Given the description of an element on the screen output the (x, y) to click on. 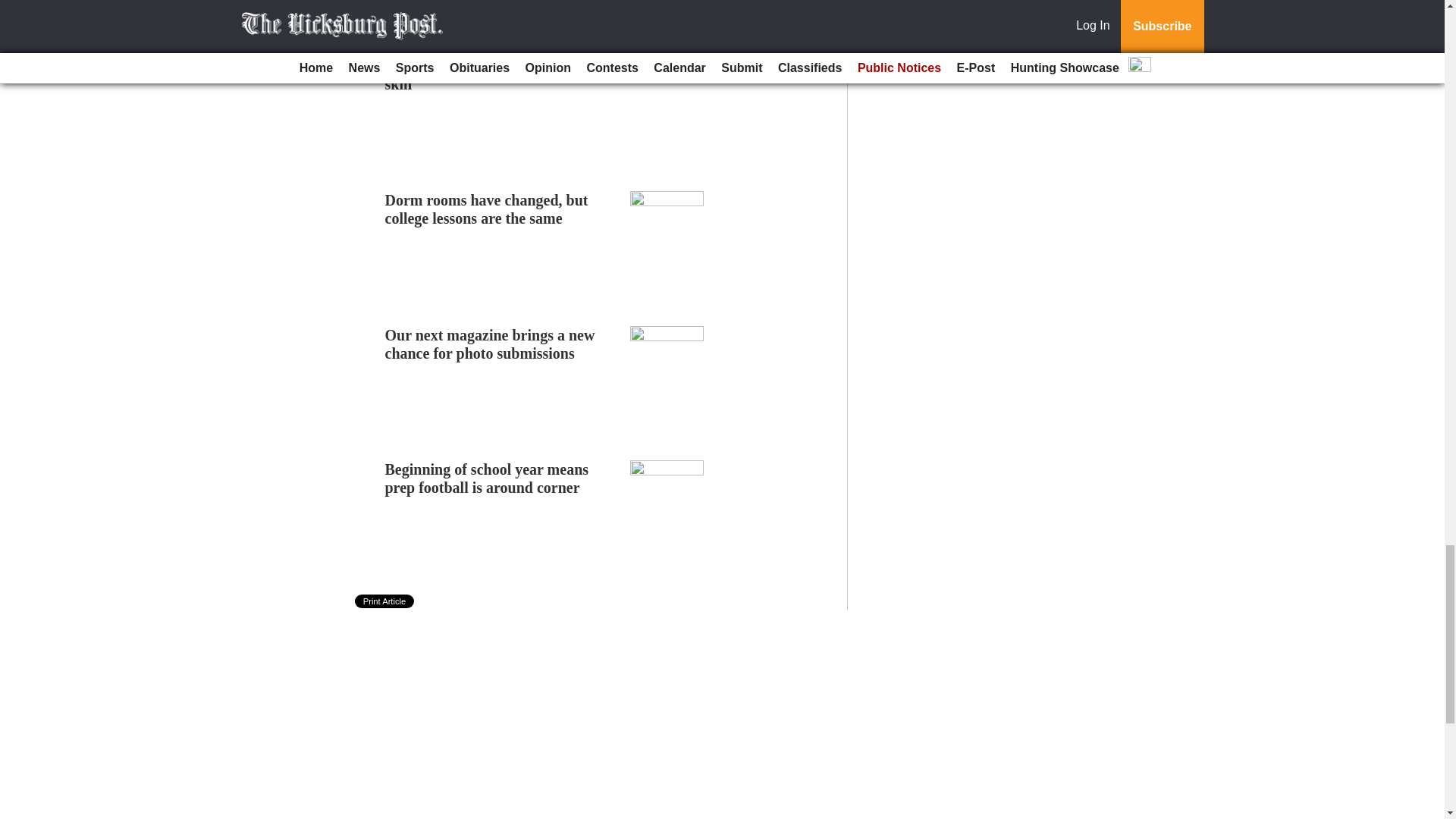
Our next magazine brings a new chance for photo submissions (490, 343)
Our next magazine brings a new chance for photo submissions (490, 343)
With age comes both thin and thick skin (499, 74)
With age comes both thin and thick skin (499, 74)
Dorm rooms have changed, but college lessons are the same (486, 208)
Dorm rooms have changed, but college lessons are the same (486, 208)
